Given the description of an element on the screen output the (x, y) to click on. 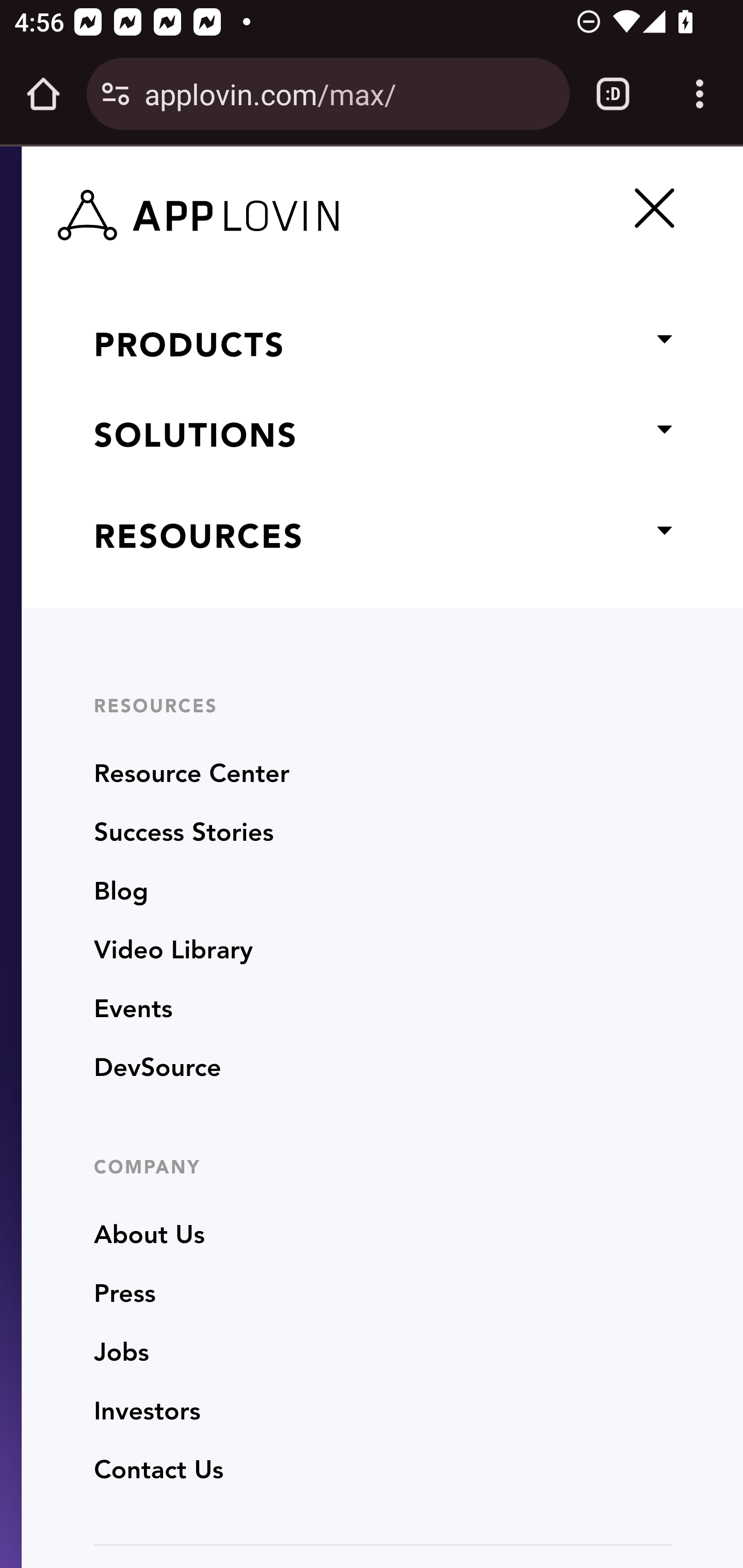
Open the home page (43, 93)
Connection is secure (115, 93)
Switch or close tabs (612, 93)
Customize and control Google Chrome (699, 93)
applovin.com/max/ (349, 92)
Menu Trigger (650, 207)
www.applovin (220, 209)
PRODUCTS (382, 347)
SOLUTIONS (382, 438)
RESOURCES (382, 539)
Resource Center (191, 775)
Success Stories (183, 834)
Blog (121, 892)
Video Library (173, 952)
Events (133, 1010)
DevSource (157, 1069)
About Us (149, 1235)
Press (124, 1295)
Jobs (121, 1353)
Investors (147, 1412)
Contact Us (159, 1471)
